Given the description of an element on the screen output the (x, y) to click on. 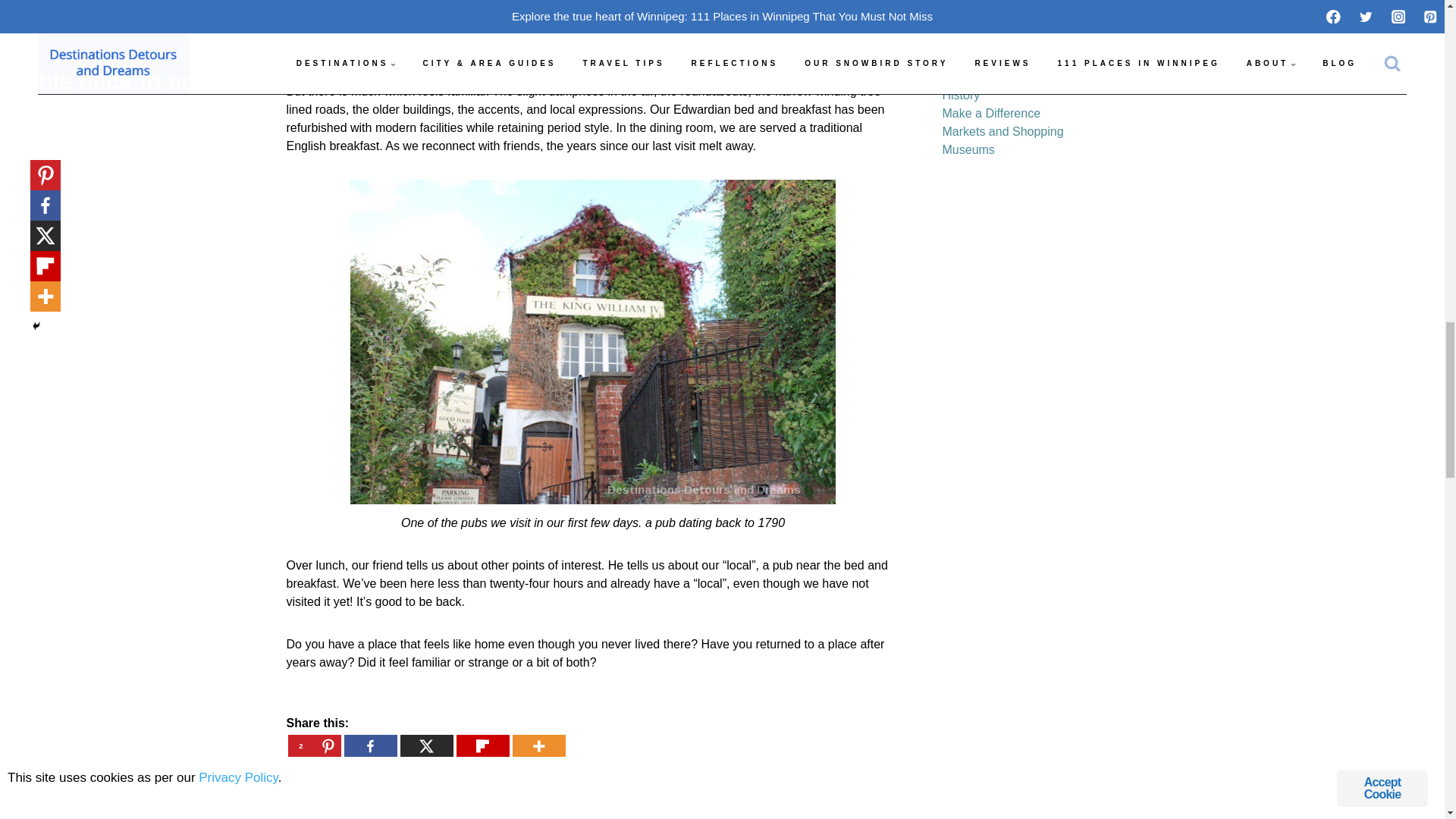
More (539, 745)
Flipboard (483, 745)
Pinterest (314, 745)
X (426, 745)
Facebook (370, 745)
